Given the description of an element on the screen output the (x, y) to click on. 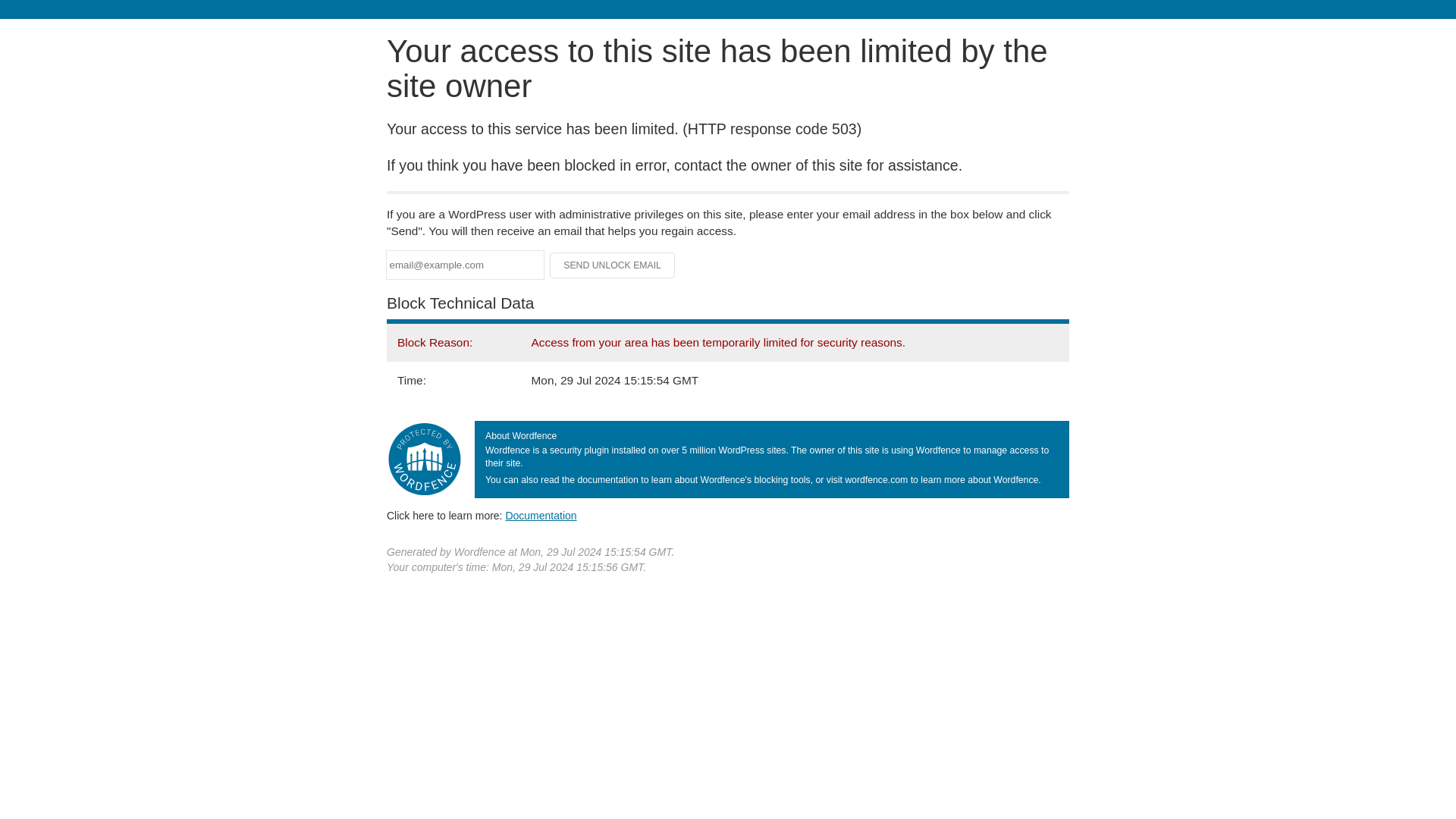
Send Unlock Email (612, 265)
Documentation (540, 515)
Send Unlock Email (612, 265)
